Given the description of an element on the screen output the (x, y) to click on. 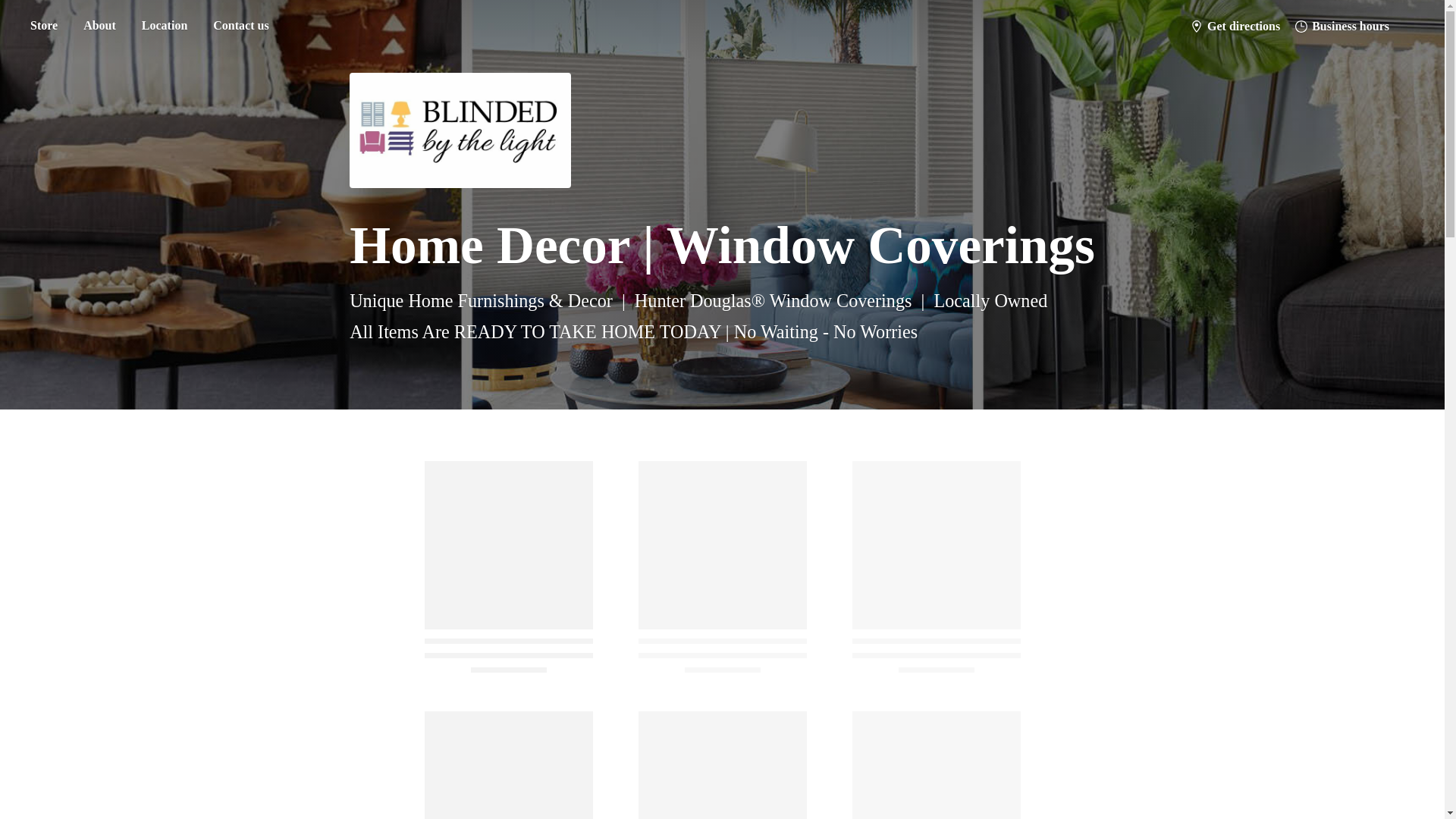
About (99, 25)
Business hours (1341, 26)
Store (43, 25)
Location (164, 25)
Contact us (240, 25)
Get directions (1234, 26)
